Given the description of an element on the screen output the (x, y) to click on. 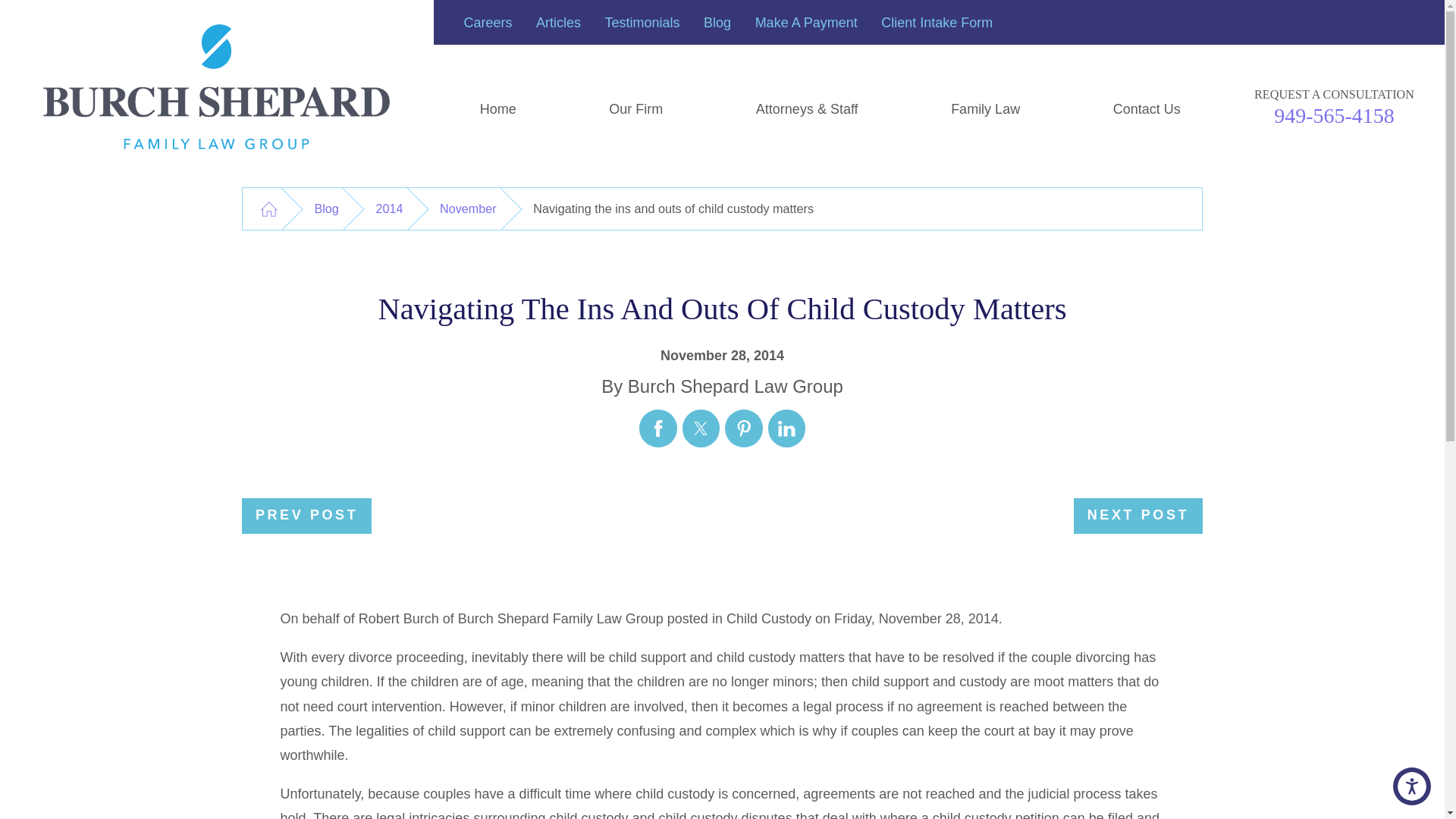
Open the accessibility options menu (1412, 786)
Careers (488, 22)
Testimonials (642, 22)
Blog (716, 22)
Our Firm (636, 109)
Go Home (269, 208)
Articles (557, 22)
Home (498, 109)
Make A Payment (806, 22)
Burch Shepard Family Law Group (216, 86)
Family Law (985, 109)
Client Intake Form (936, 22)
